Given the description of an element on the screen output the (x, y) to click on. 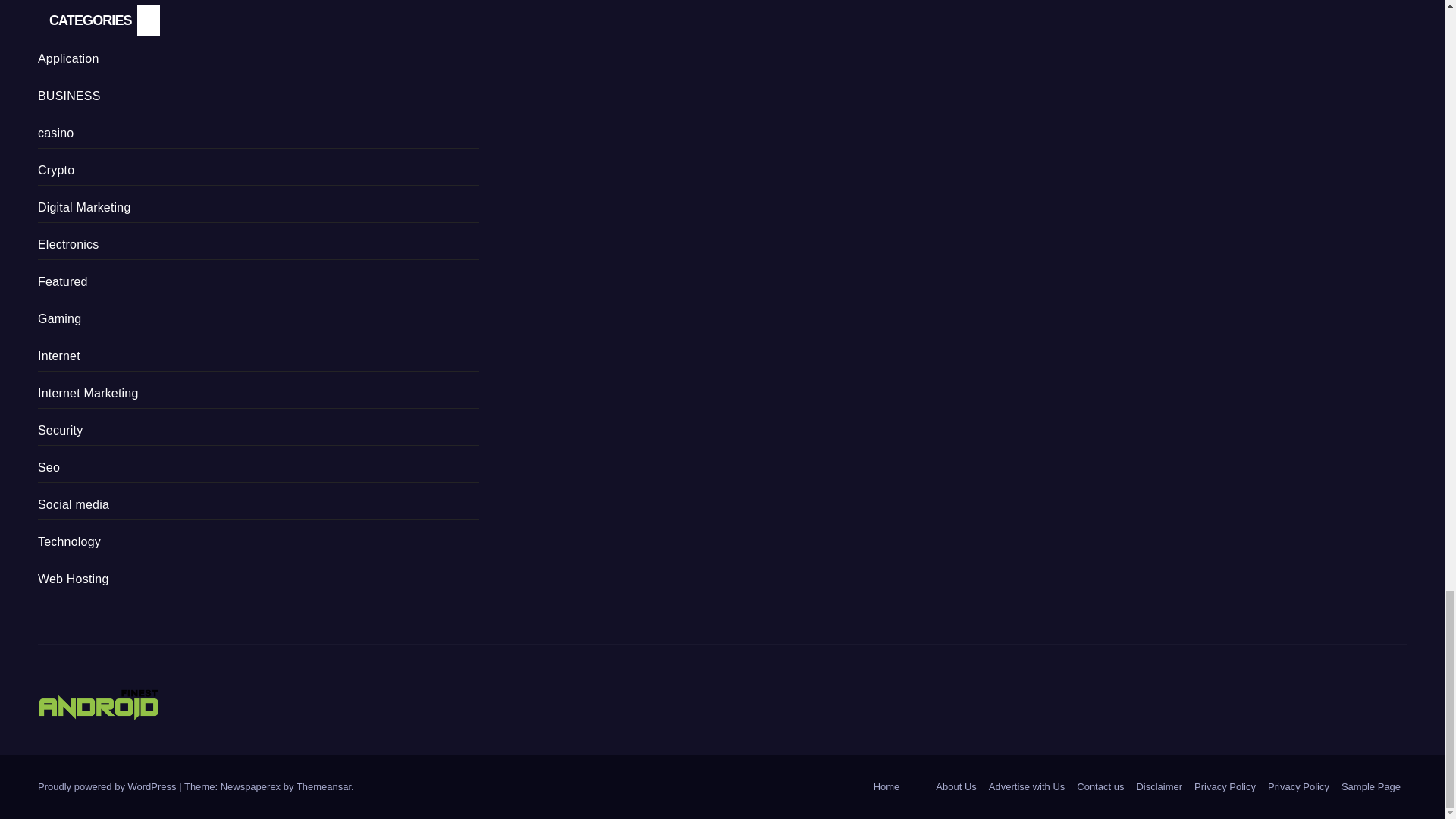
Home (886, 786)
